Given the description of an element on the screen output the (x, y) to click on. 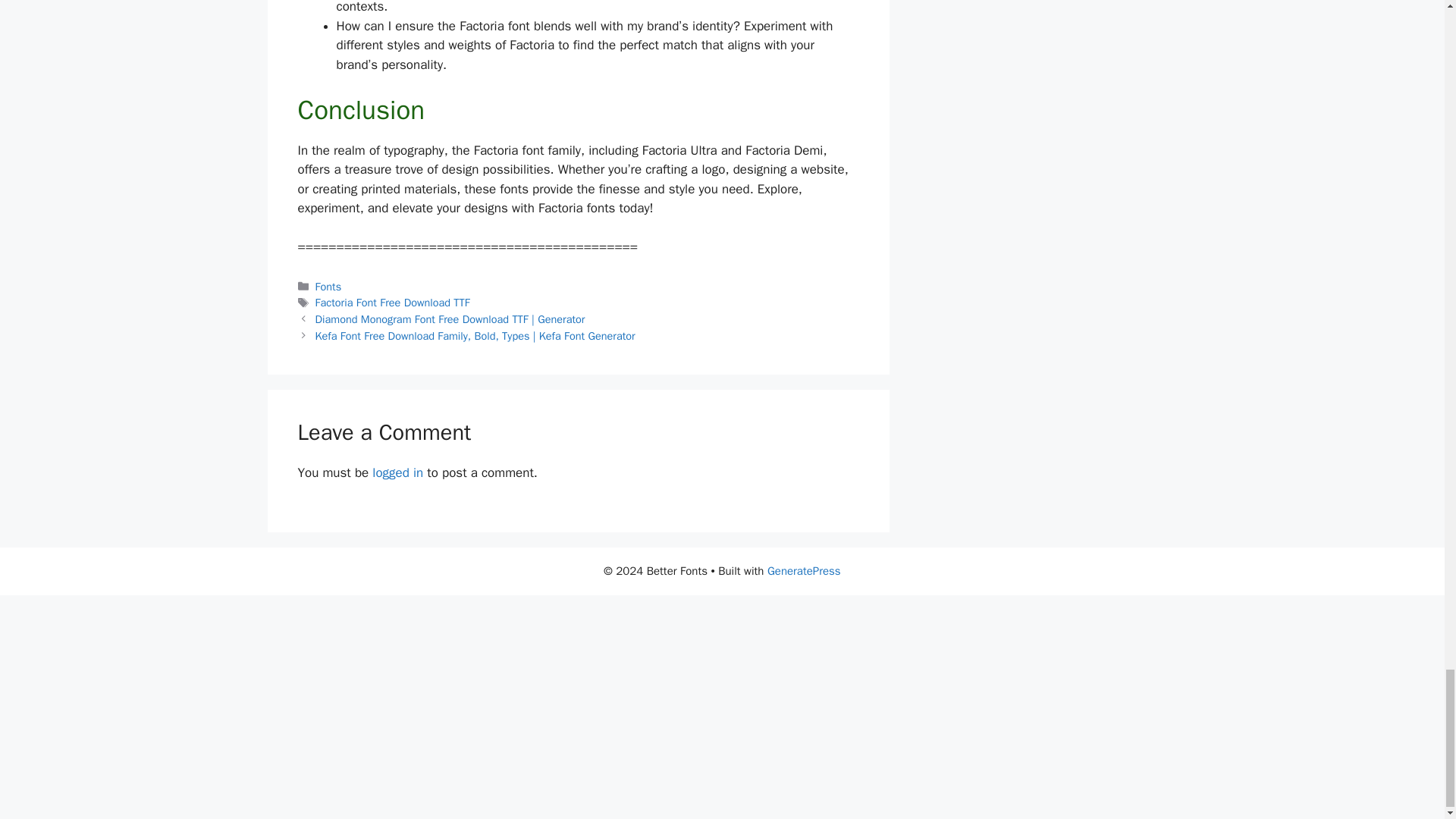
Fonts (328, 286)
Factoria Font Free Download TTF (392, 302)
GeneratePress (804, 571)
logged in (397, 472)
